Given the description of an element on the screen output the (x, y) to click on. 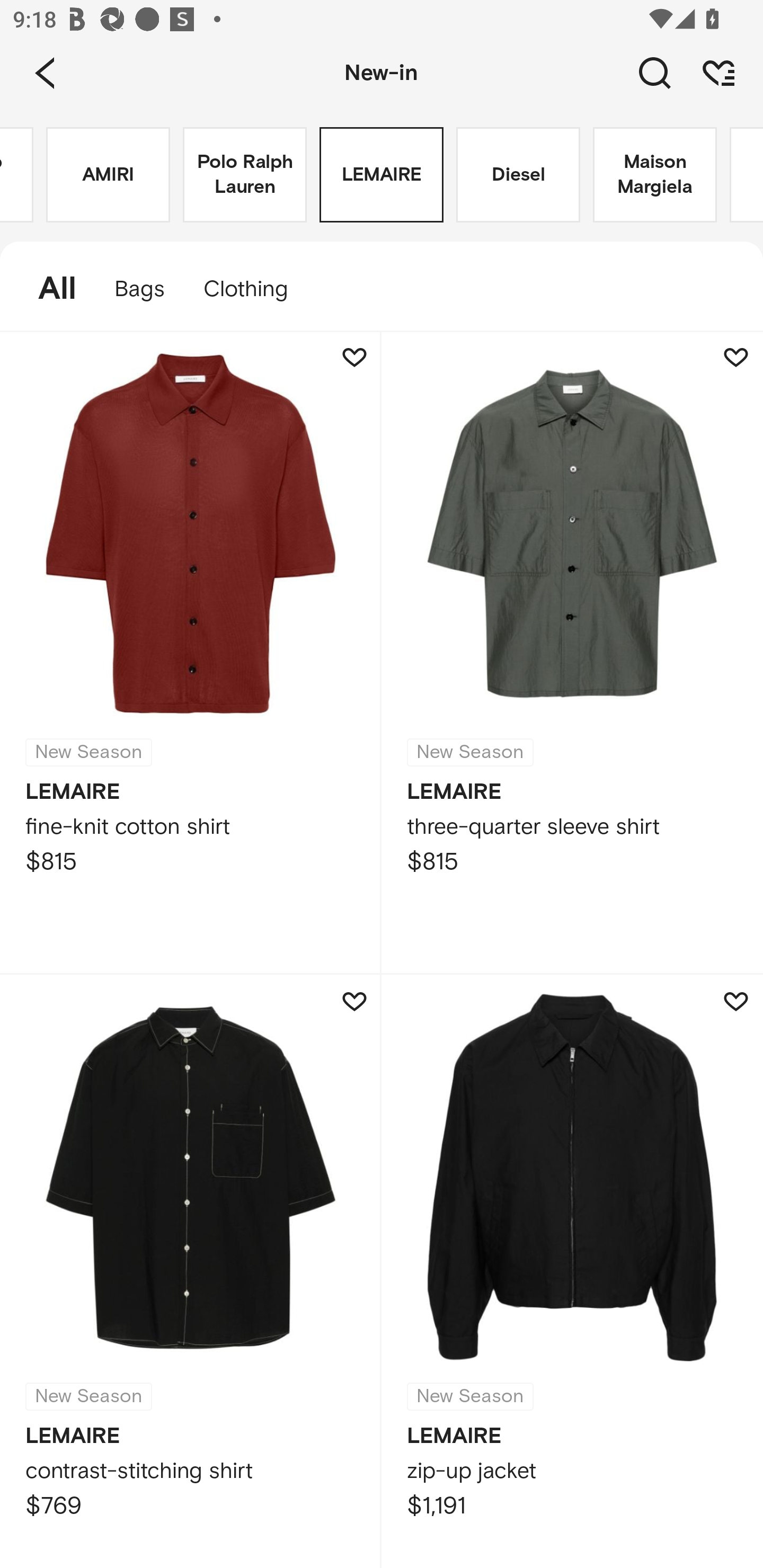
AMIRI (107, 174)
Polo Ralph Lauren (244, 174)
LEMAIRE (381, 174)
Diesel (517, 174)
Maison Margiela (654, 174)
All (47, 288)
Bags (139, 288)
Clothing (254, 288)
New Season LEMAIRE fine-knit cotton shirt $815 (190, 652)
New Season LEMAIRE three-quarter sleeve shirt $815 (572, 652)
New Season LEMAIRE contrast-stitching shirt $769 (190, 1271)
New Season LEMAIRE zip-up jacket $1,191 (572, 1271)
